Given the description of an element on the screen output the (x, y) to click on. 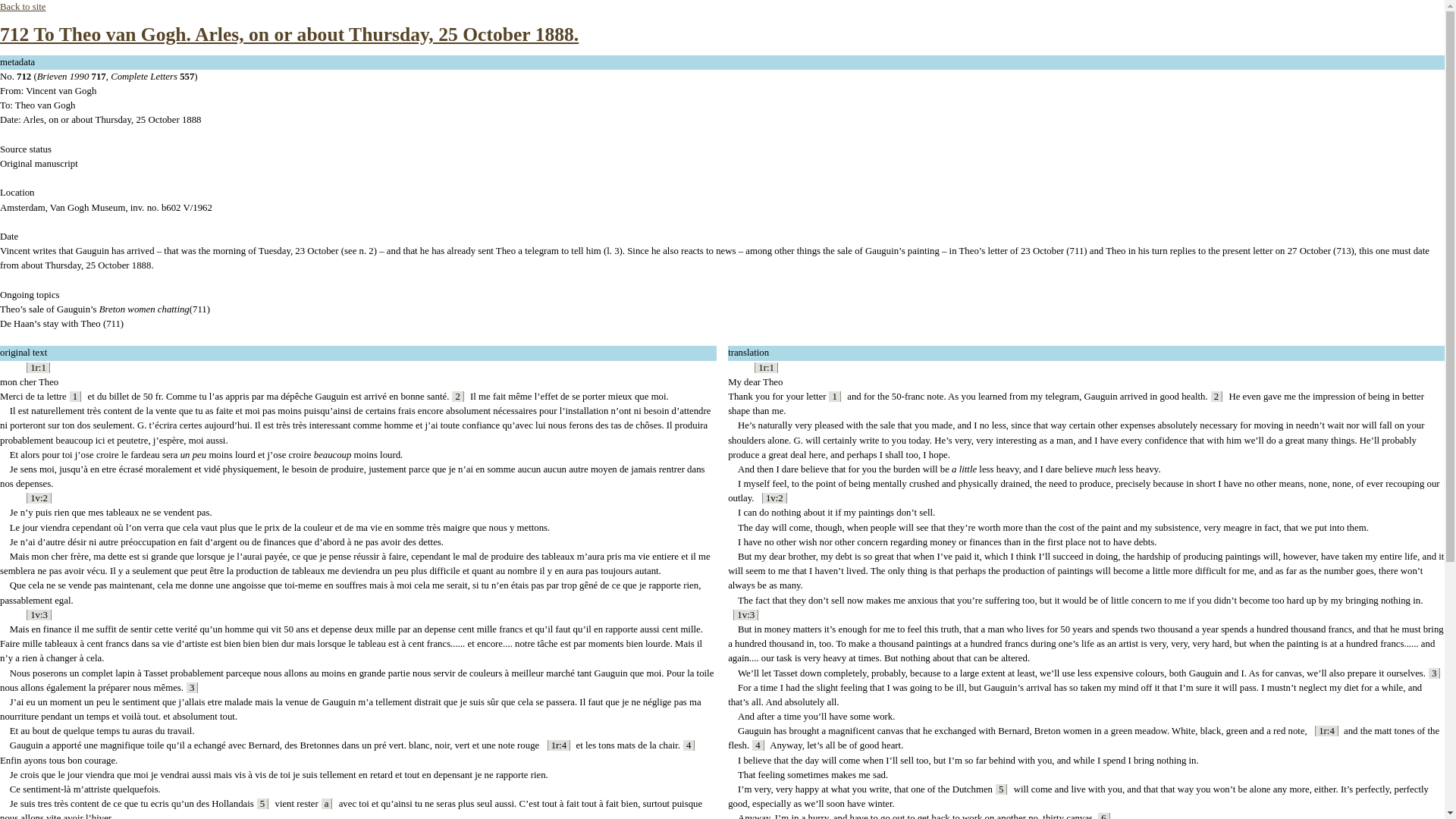
Back to site (22, 6)
Show this letter in the site (289, 34)
